Given the description of an element on the screen output the (x, y) to click on. 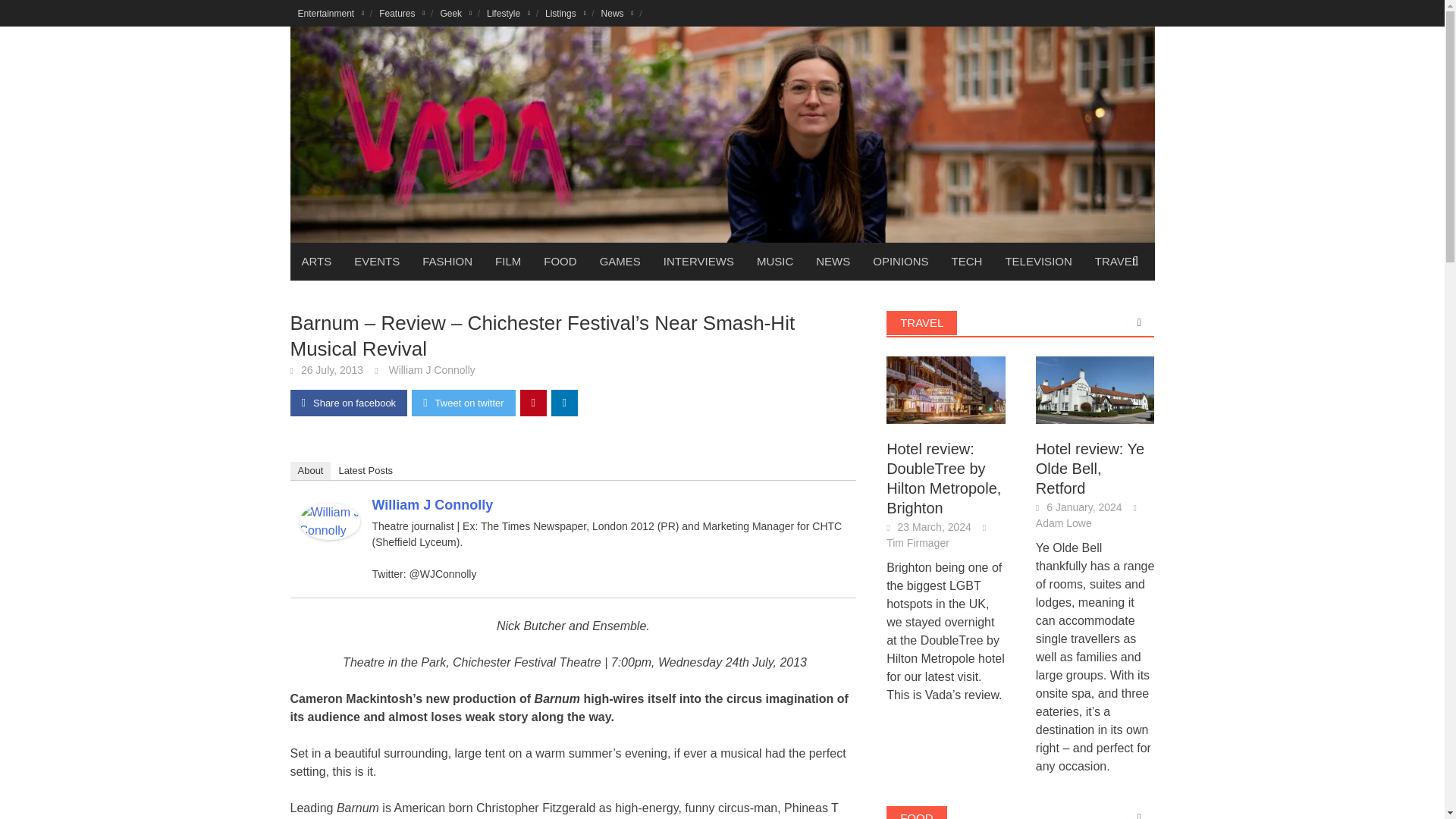
William J Connolly (328, 520)
Hotel review: DoubleTree by Hilton Metropole, Brighton (946, 389)
Entertainment (330, 13)
Features (401, 13)
Geek (455, 13)
News (618, 13)
Hotel review: Ye Olde Bell, Retford (1094, 389)
Lifestyle (508, 13)
Listings (565, 13)
Hotel review: Ye Olde Bell, Retford (1094, 390)
Hotel review: DoubleTree by Hilton Metropole, Brighton (946, 390)
